Given the description of an element on the screen output the (x, y) to click on. 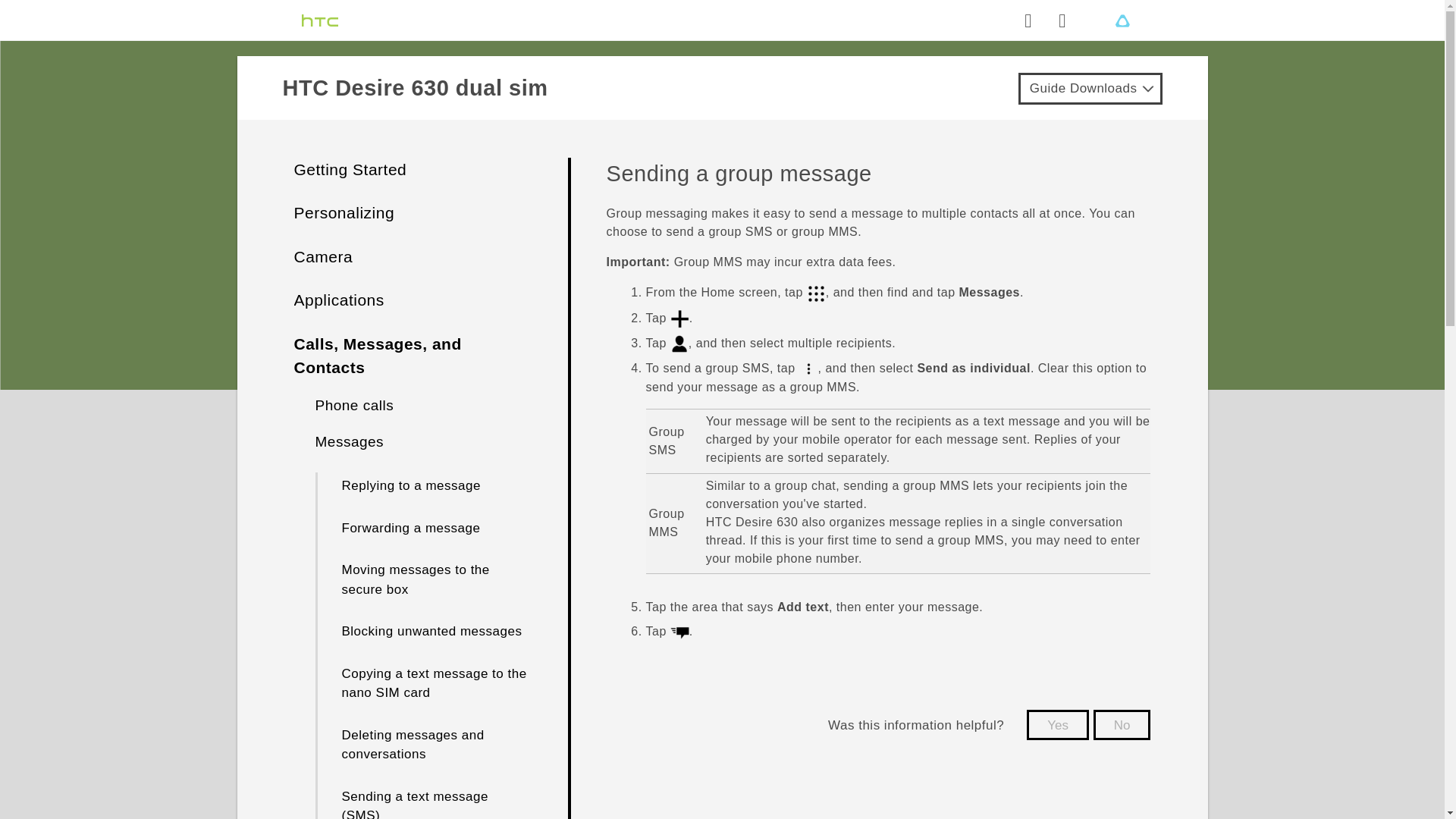
Login (1061, 19)
Getting Started (350, 169)
